Given the description of an element on the screen output the (x, y) to click on. 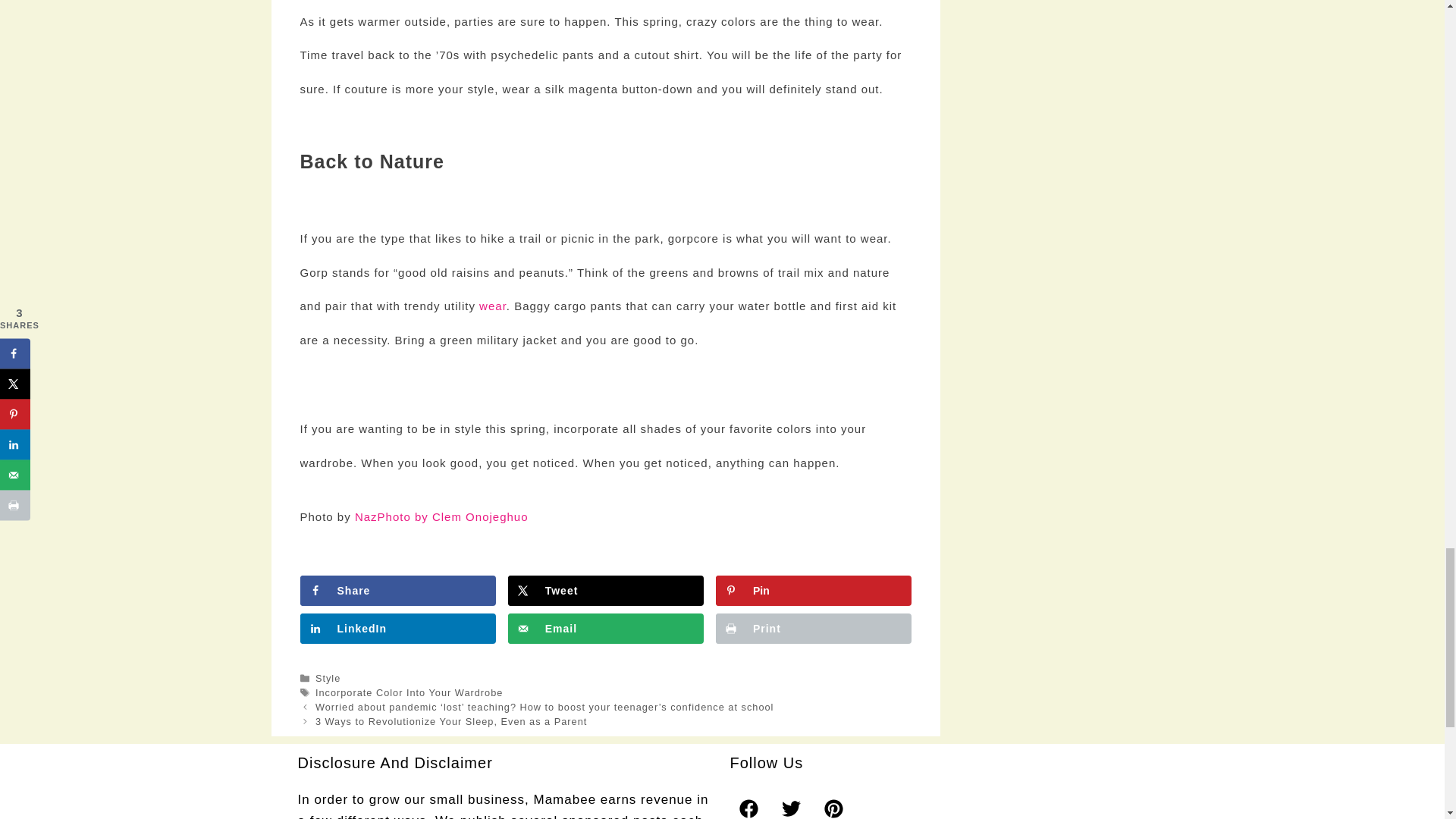
Save to Pinterest (813, 590)
Share on X (605, 590)
Share on LinkedIn (397, 628)
Share on Facebook (397, 590)
Print this webpage (813, 628)
Send over email (605, 628)
